Given the description of an element on the screen output the (x, y) to click on. 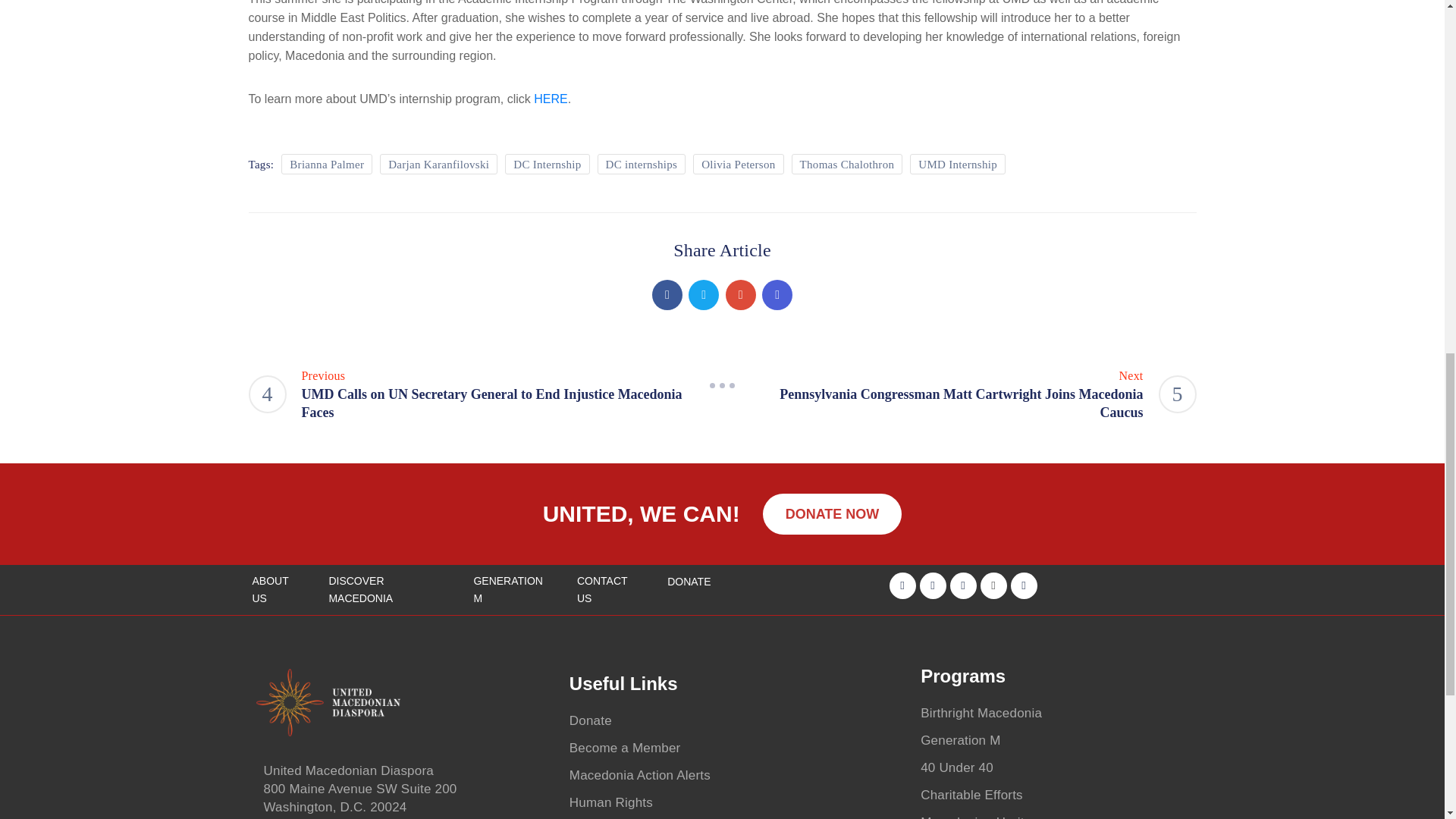
Linkedin (776, 295)
Facebook (667, 295)
Slash (722, 385)
Twitter (703, 295)
Pinterest (740, 295)
